Given the description of an element on the screen output the (x, y) to click on. 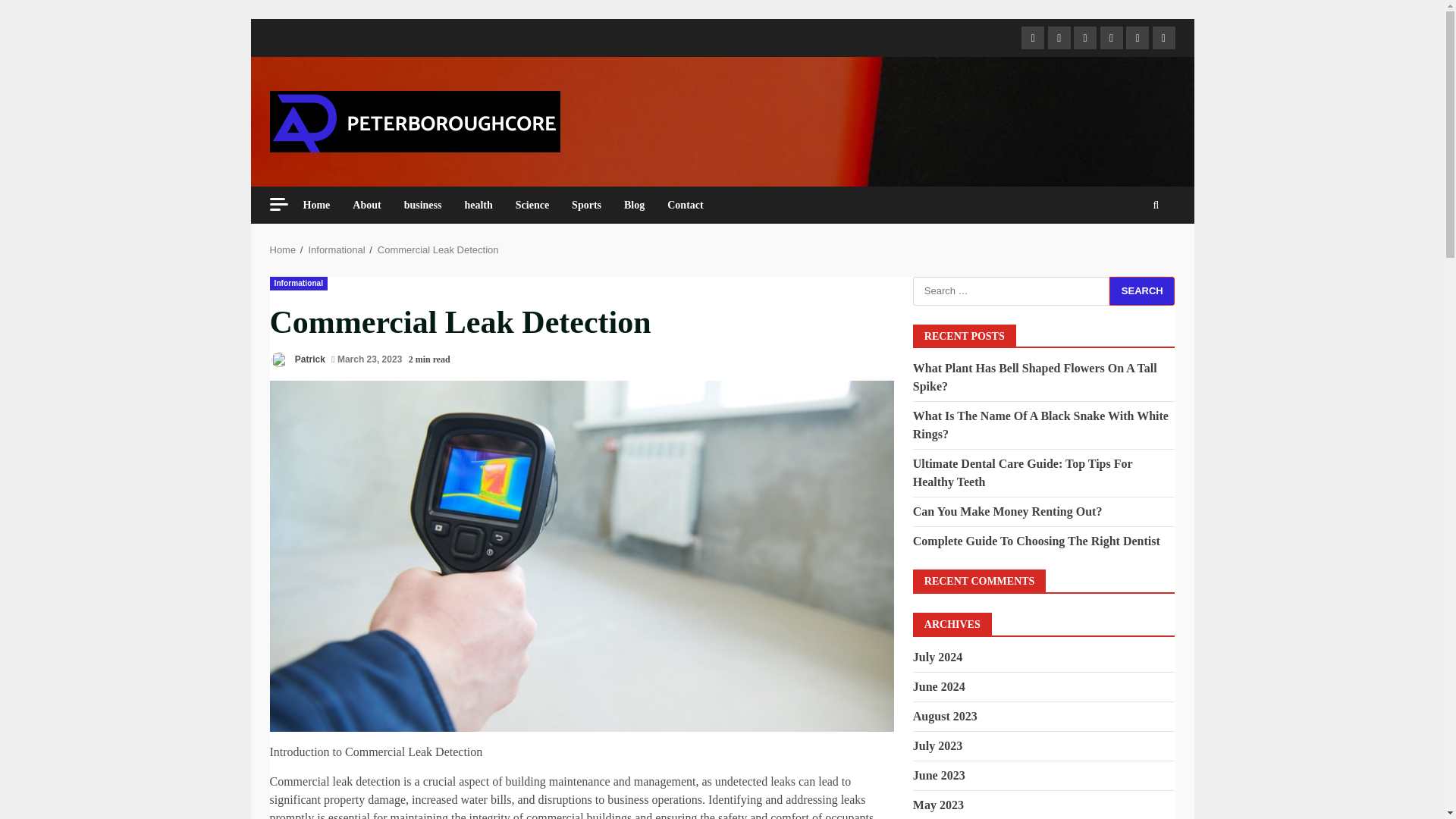
health (477, 204)
Sports (586, 204)
Instagram (1163, 37)
Youtube (1136, 37)
Home (322, 204)
Search (1141, 290)
Linkedin (1085, 37)
About (365, 204)
Twitter (1059, 37)
Facebook (1032, 37)
Blog (634, 204)
VK (1111, 37)
Science (531, 204)
Search (1141, 290)
